Given the description of an element on the screen output the (x, y) to click on. 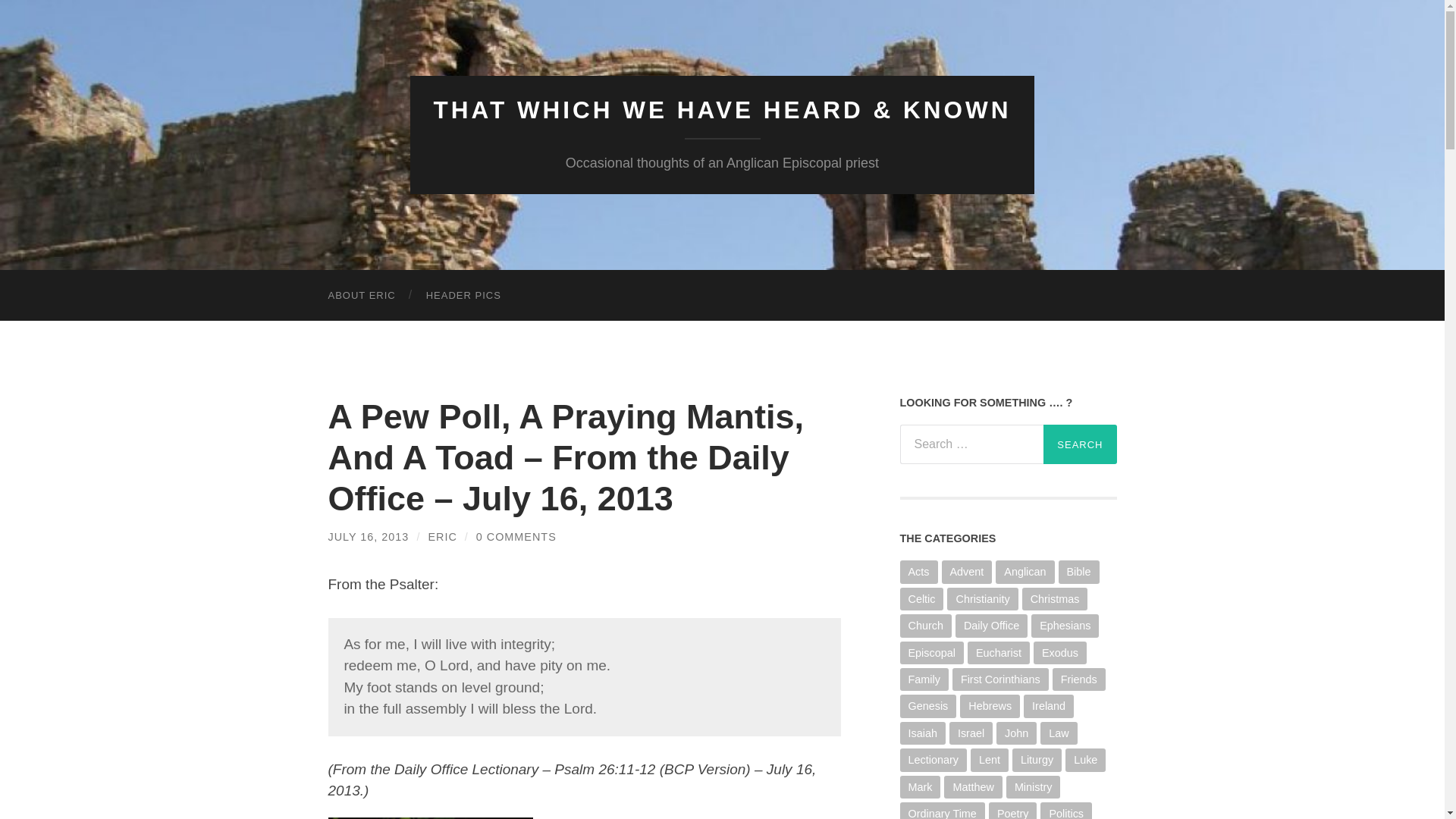
JULY 16, 2013 (368, 536)
ERIC (442, 536)
Search (1079, 444)
Advent (967, 571)
Posts by eric (442, 536)
Acts (918, 571)
HEADER PICS (463, 295)
Search (1079, 444)
Search (1079, 444)
0 COMMENTS (516, 536)
ABOUT ERIC (361, 295)
